Given the description of an element on the screen output the (x, y) to click on. 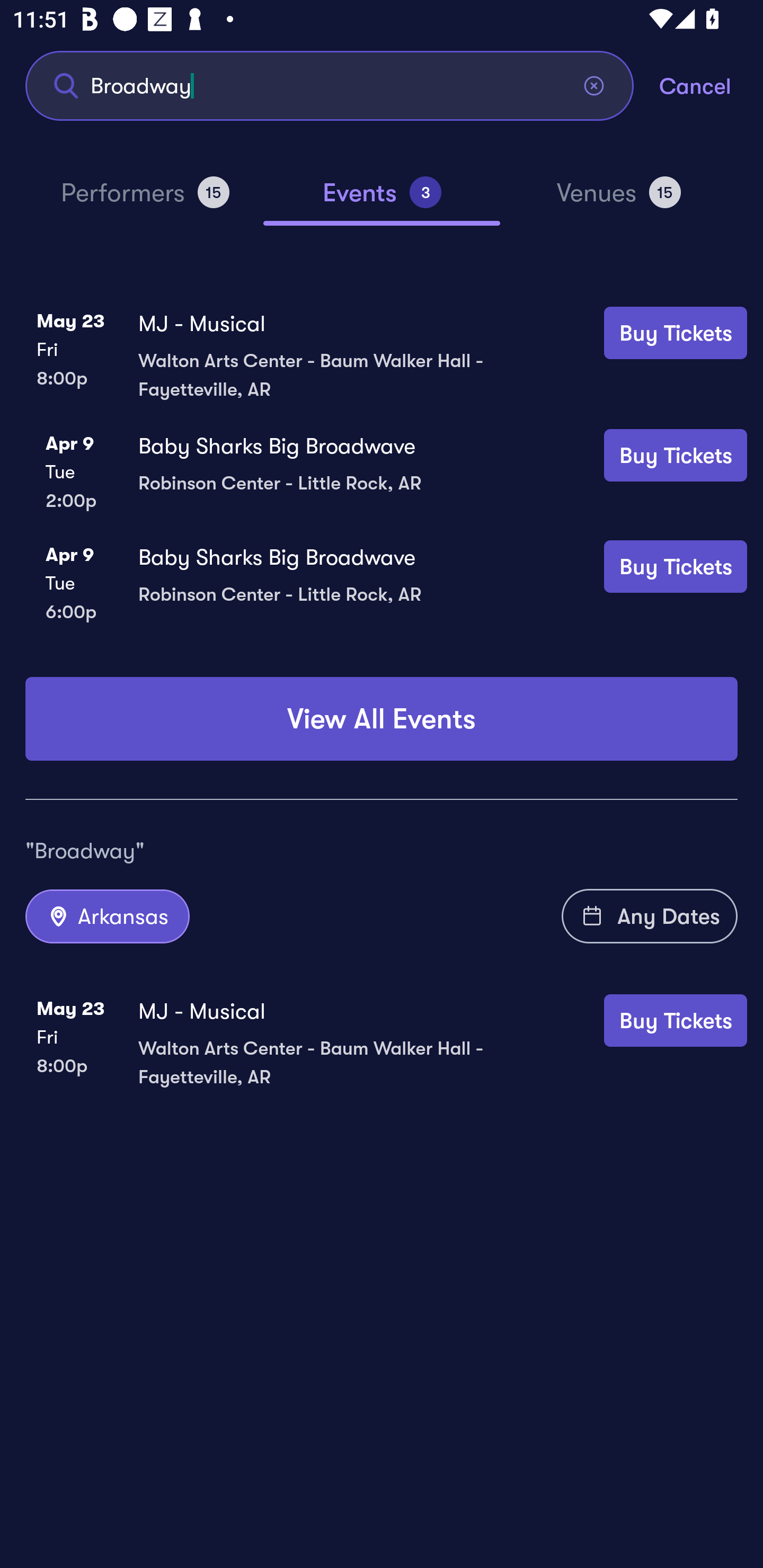
Cancel (711, 85)
Broadway Find (329, 85)
Broadway Find (329, 85)
Performers 15 (144, 200)
Events 3 (381, 200)
Venues 15 (618, 200)
View All Events (381, 718)
Any Dates (649, 916)
Arkansas (107, 916)
